Given the description of an element on the screen output the (x, y) to click on. 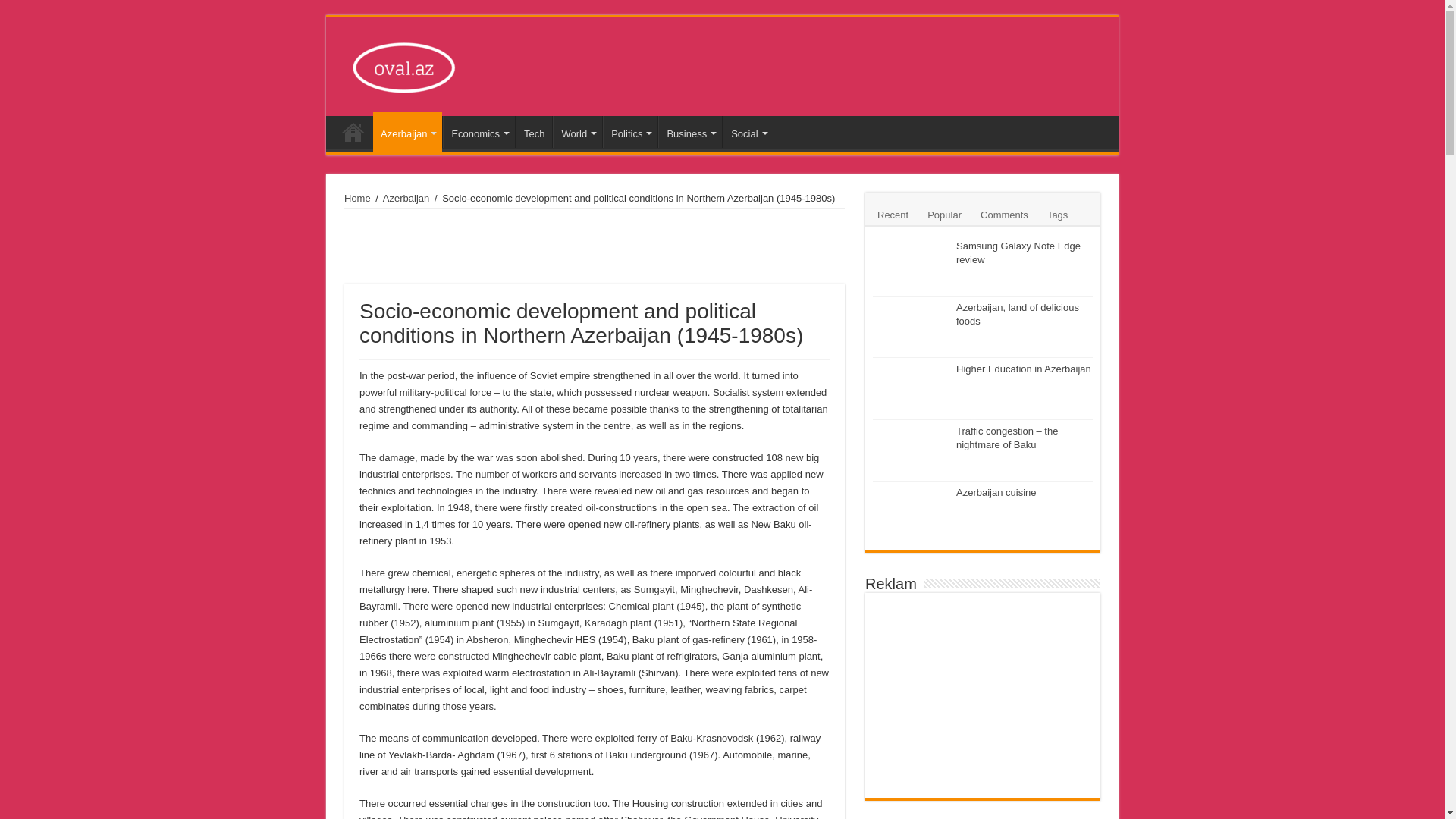
Economics (478, 132)
Home (352, 132)
Tech (533, 132)
Oval (406, 63)
Azerbaijan (407, 131)
World (577, 132)
